Given the description of an element on the screen output the (x, y) to click on. 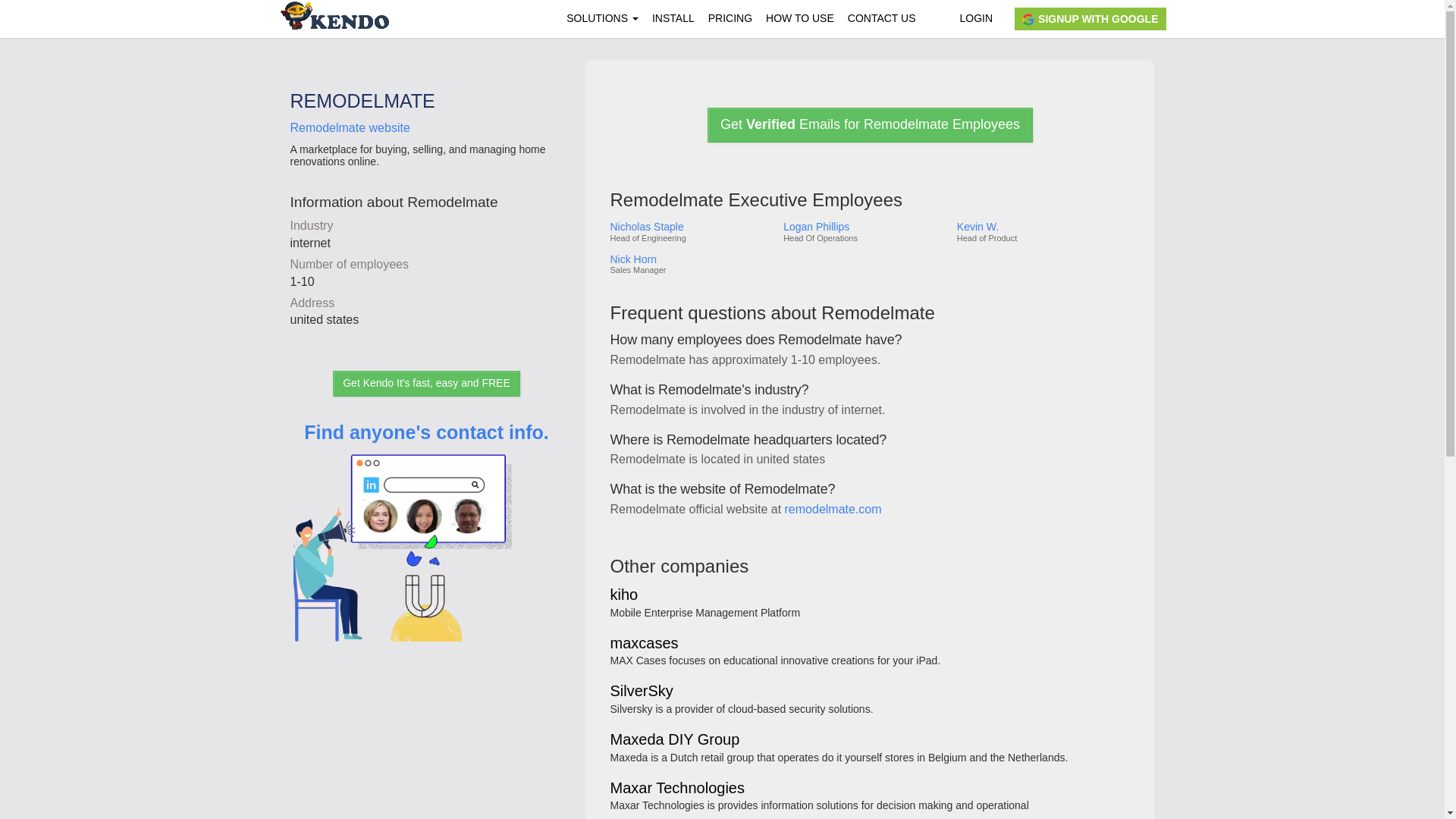
Kevin W. (1041, 226)
SOLUTIONS (602, 18)
Remodelmate website (349, 127)
HOW TO USE (799, 18)
Get Kendo It's fast, easy and FREE (426, 383)
INSTALL (673, 18)
SIGNUP WITH GOOGLE (1090, 18)
SilverSky (641, 691)
Maxeda DIY Group (674, 739)
PRICING (729, 18)
LOGIN (975, 18)
remodelmate.com (833, 508)
Logan Phillips (863, 226)
Maxar Technologies (677, 788)
maxcases (644, 644)
